Given the description of an element on the screen output the (x, y) to click on. 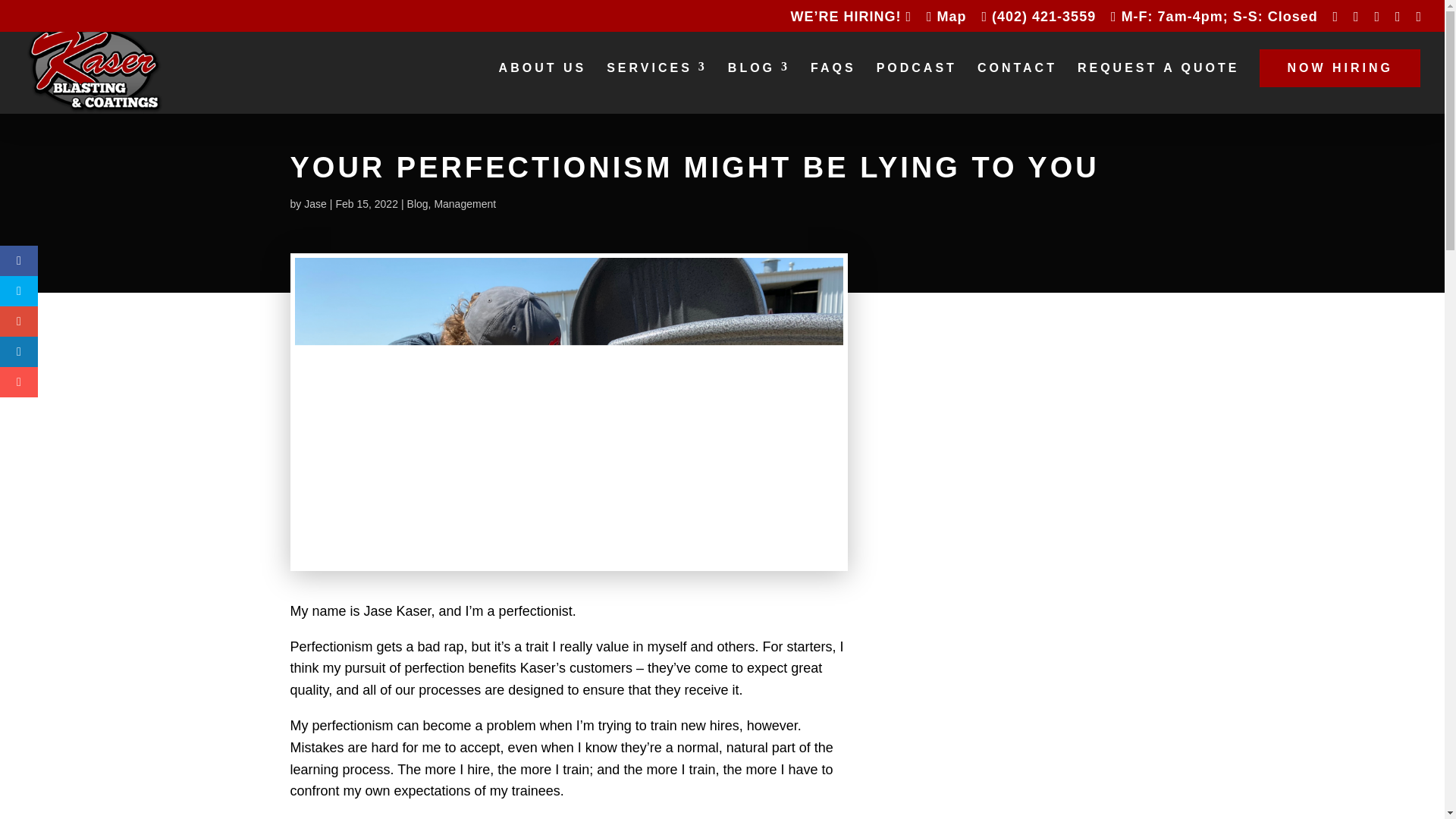
BLOG (759, 68)
Blog (417, 203)
Map (946, 21)
Jase (315, 203)
Management (464, 203)
M-F: 7am-4pm; S-S: Closed (1213, 21)
SERVICES (657, 68)
REQUEST A QUOTE (1158, 68)
CONTACT (1016, 68)
ABOUT US (542, 68)
